Given the description of an element on the screen output the (x, y) to click on. 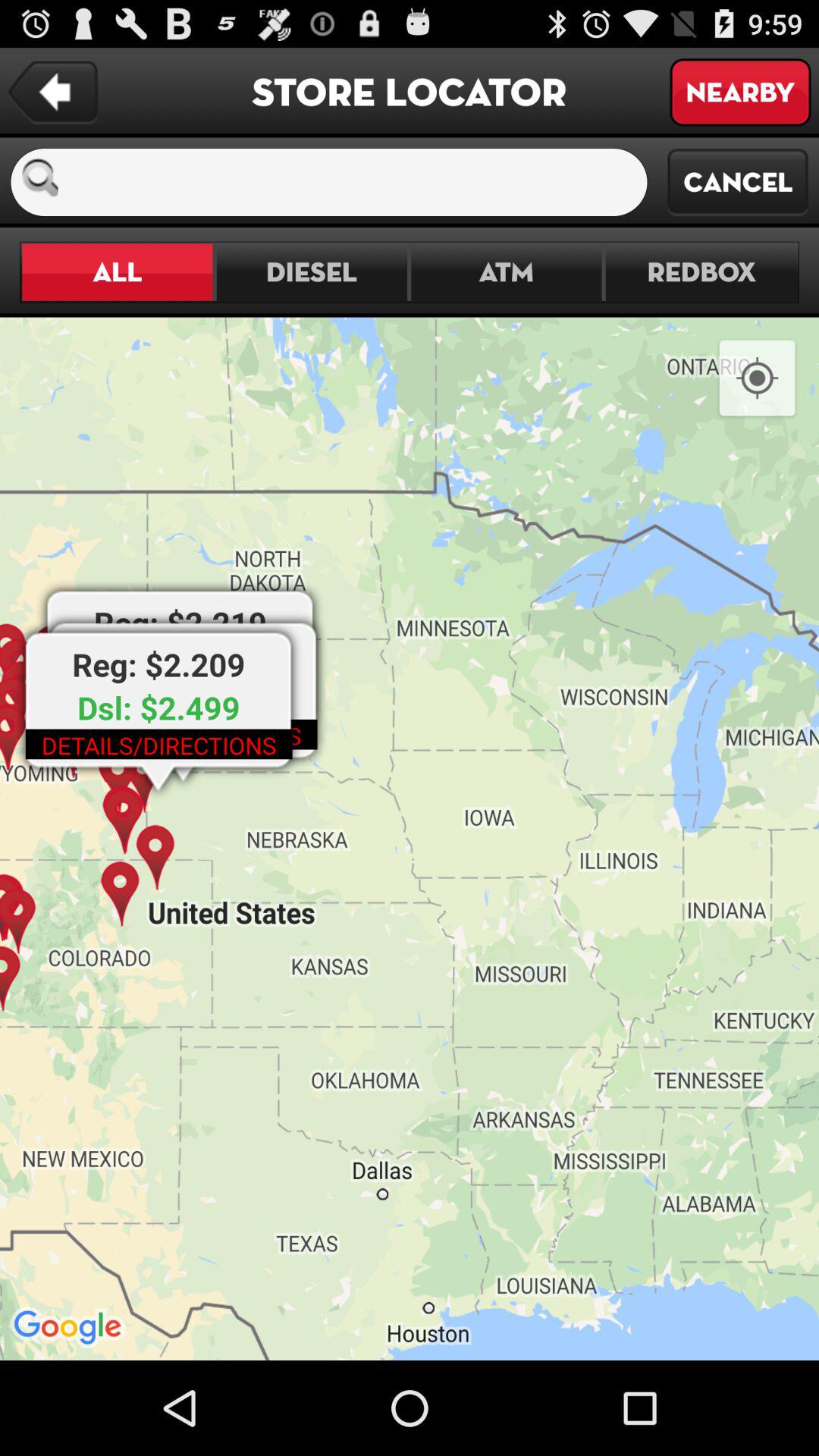
search location (358, 181)
